Given the description of an element on the screen output the (x, y) to click on. 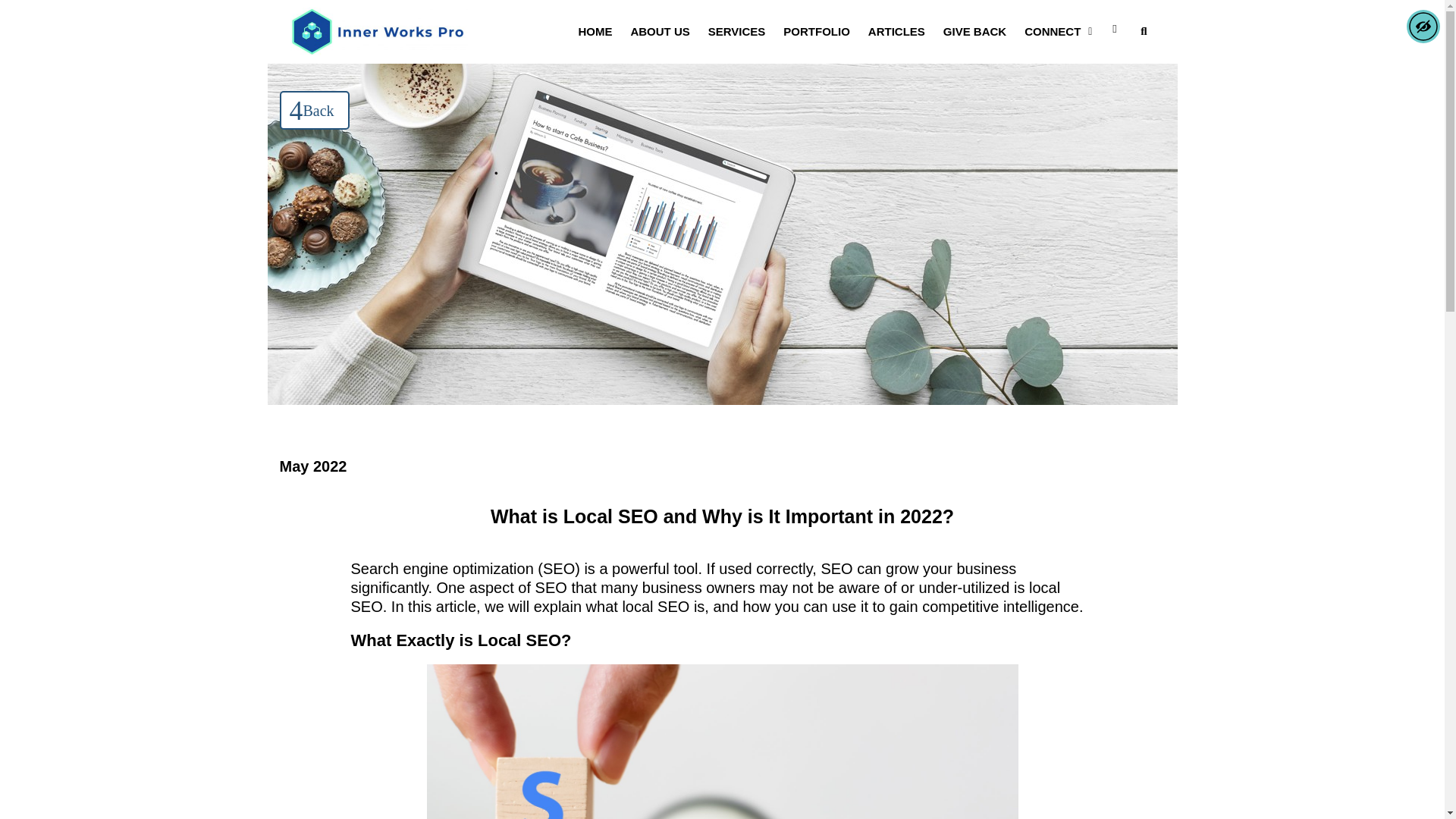
GIVE BACK (974, 31)
PORTFOLIO (816, 31)
Search (1138, 31)
ARTICLES (896, 31)
HOME (595, 31)
Accessibility Menu (1422, 26)
Back (314, 109)
LOGO.jpg (378, 31)
SERVICES (736, 31)
CONNECT (1057, 31)
